Given the description of an element on the screen output the (x, y) to click on. 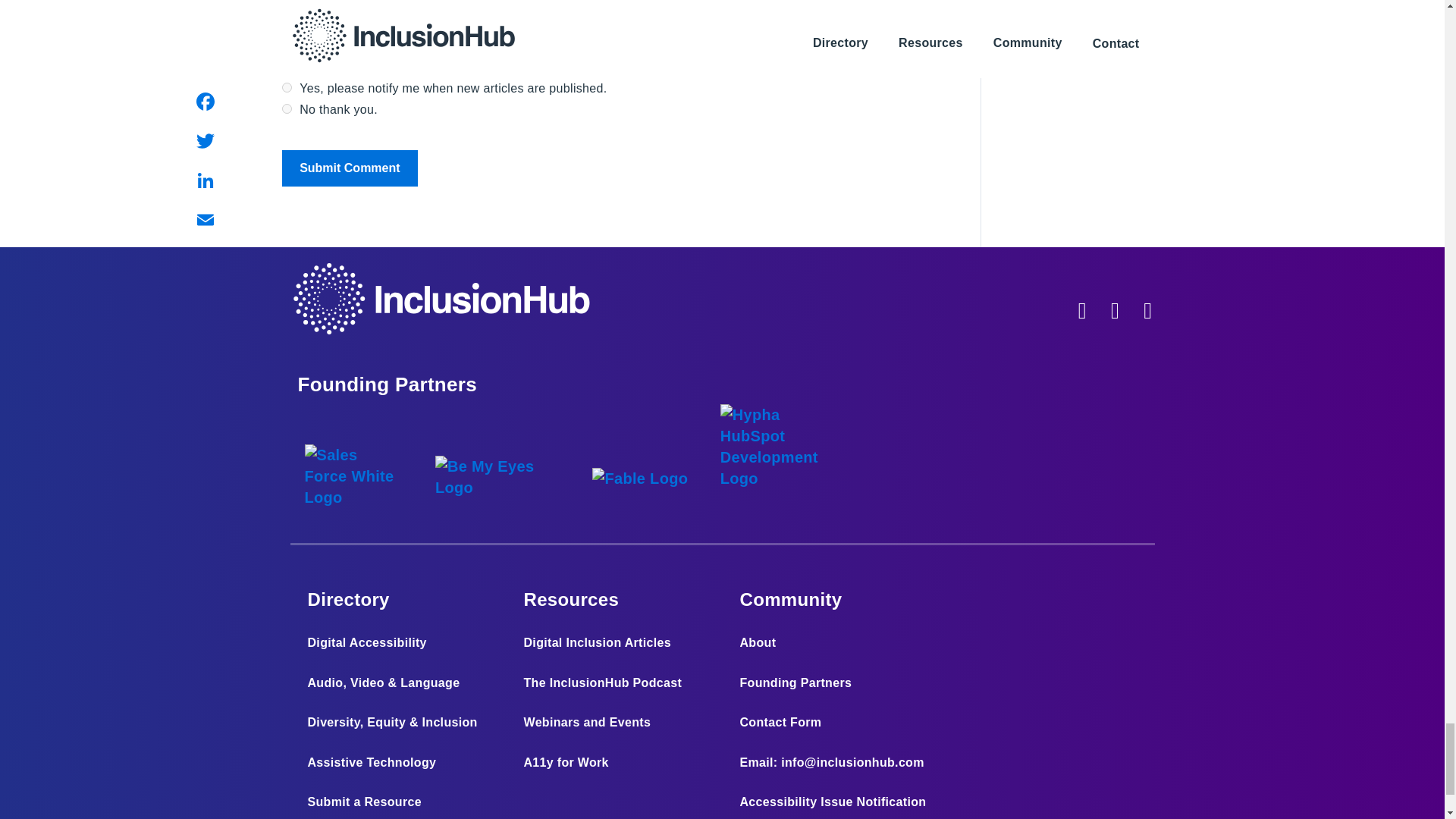
daily (287, 87)
monthly (287, 108)
Submit Comment (349, 167)
